Given the description of an element on the screen output the (x, y) to click on. 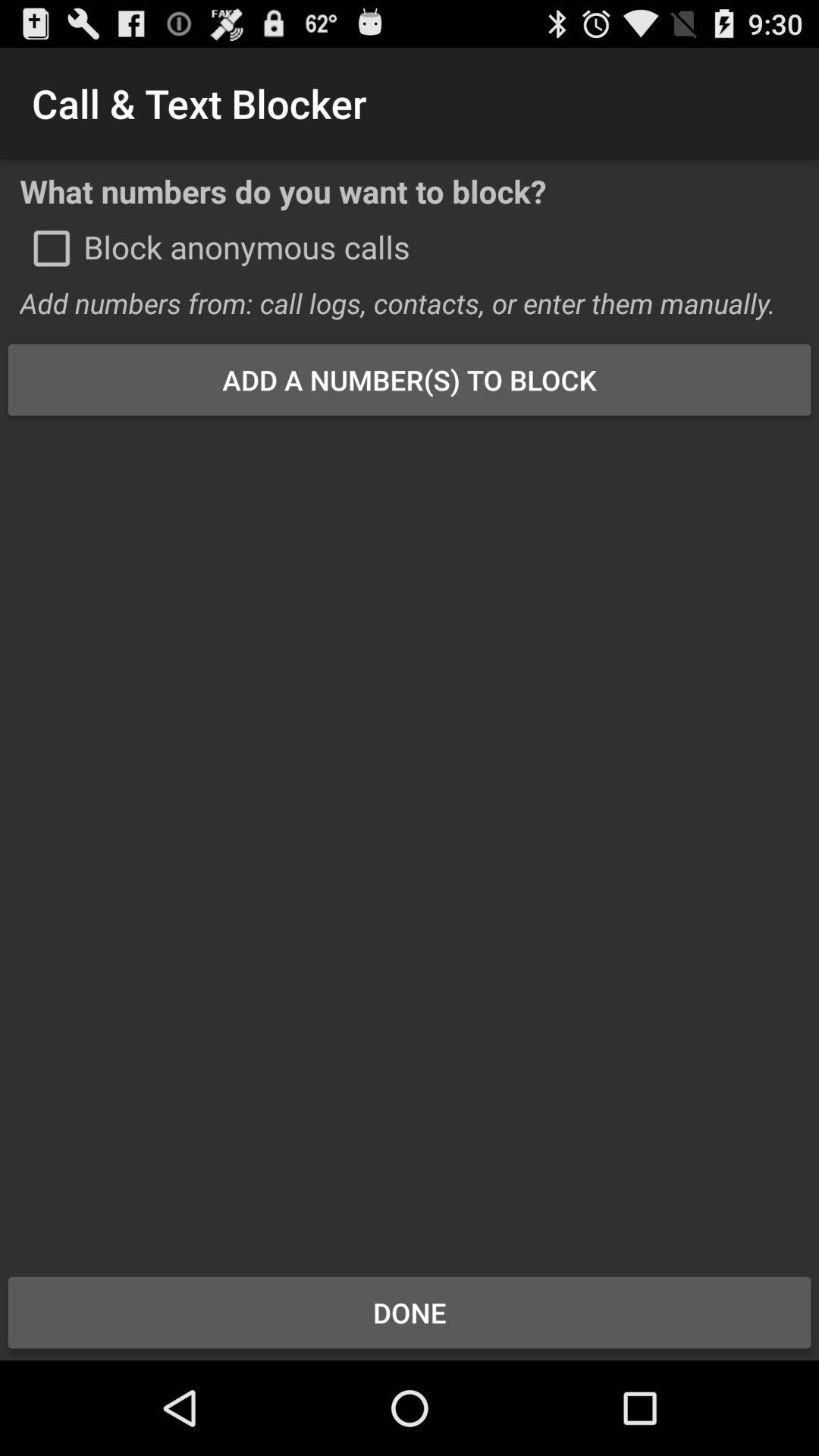
turn on item at the center (409, 835)
